Given the description of an element on the screen output the (x, y) to click on. 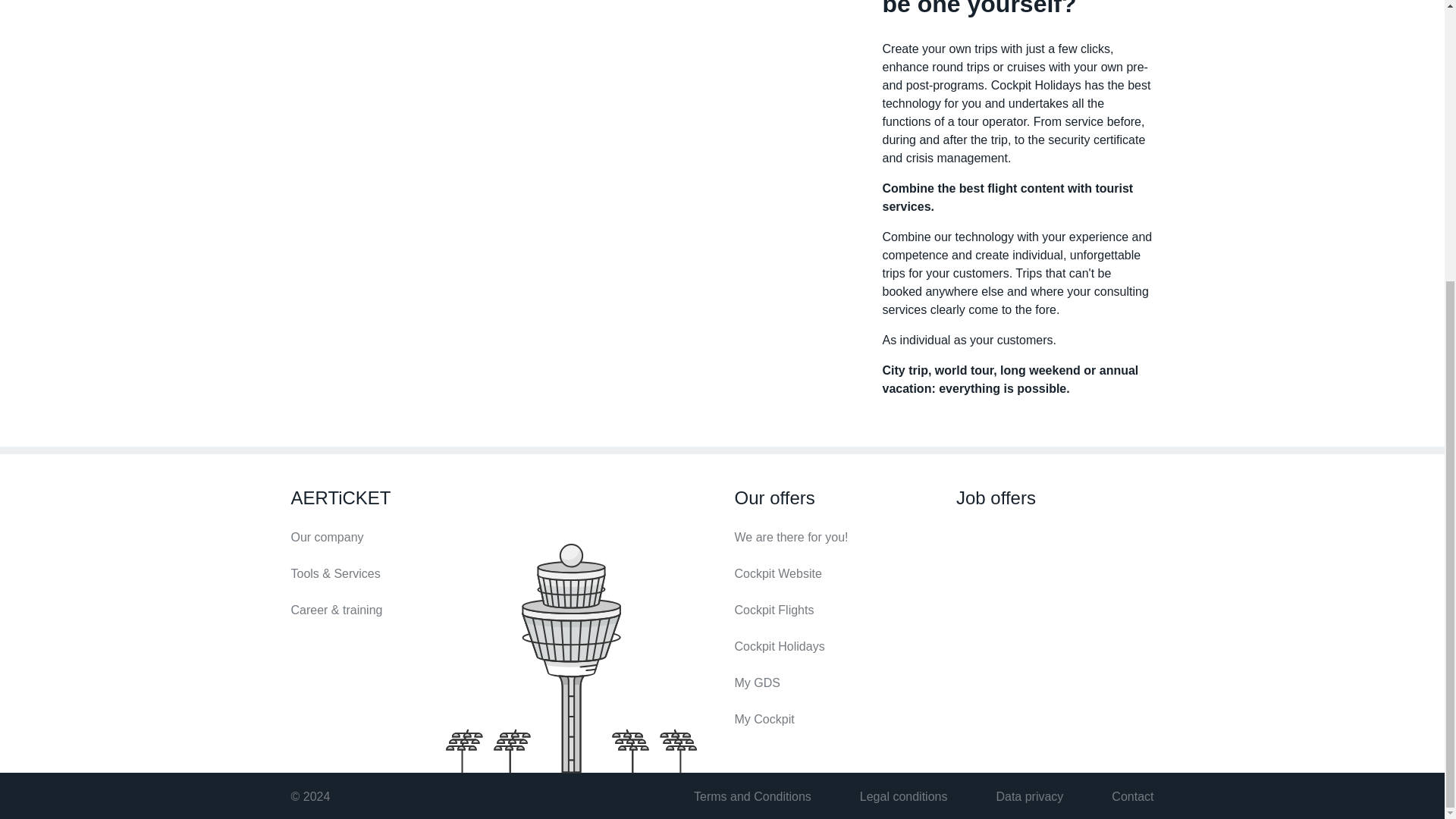
We are there for you! (832, 537)
Contact (1132, 796)
Legal conditions (903, 796)
Cockpit Website (832, 574)
Cockpit Holidays (832, 647)
We are there for you! (832, 537)
My Cockpit (832, 719)
Cockpit Flights (832, 610)
Terms and Conditions (752, 796)
Our company (390, 537)
